Given the description of an element on the screen output the (x, y) to click on. 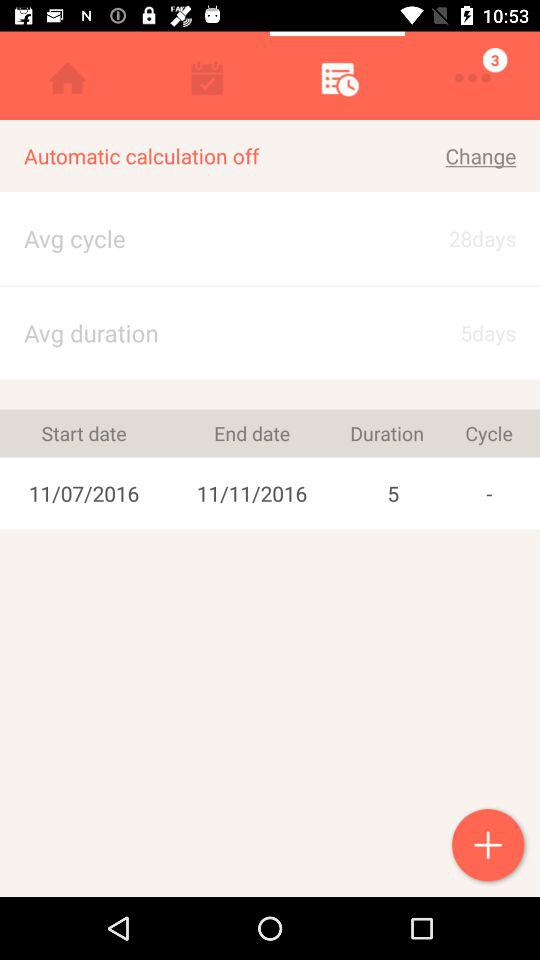
launch the icon above avg cycle icon (204, 156)
